Given the description of an element on the screen output the (x, y) to click on. 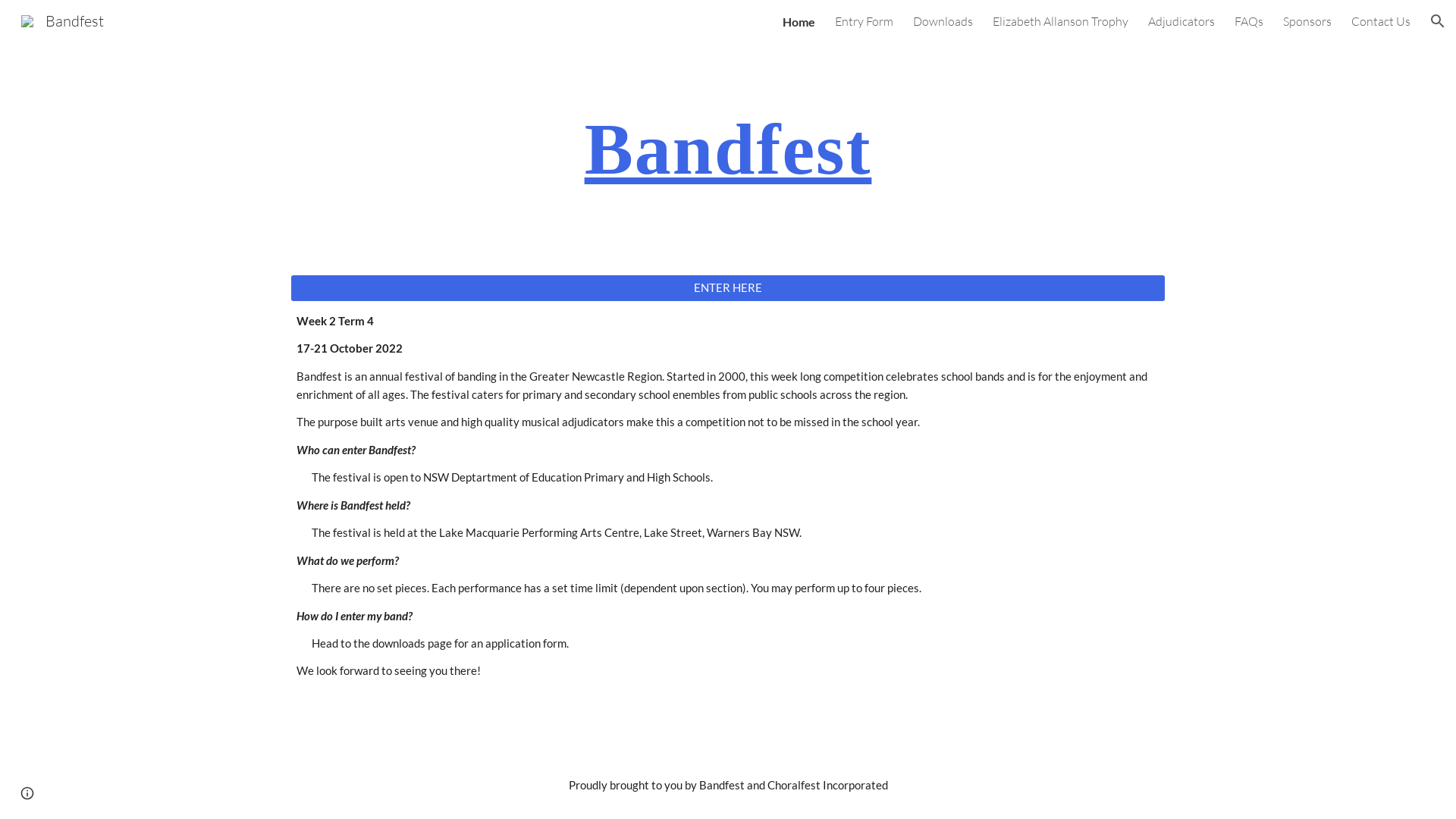
Entry Form Element type: text (863, 20)
Bandfest Element type: text (62, 18)
Downloads Element type: text (942, 20)
FAQs Element type: text (1248, 20)
Elizabeth Allanson Trophy Element type: text (1060, 20)
Contact Us Element type: text (1380, 20)
Bandfest Element type: text (728, 148)
Sponsors Element type: text (1307, 20)
ENTER HERE Element type: text (727, 286)
Adjudicators Element type: text (1181, 20)
Home Element type: text (798, 20)
